Given the description of an element on the screen output the (x, y) to click on. 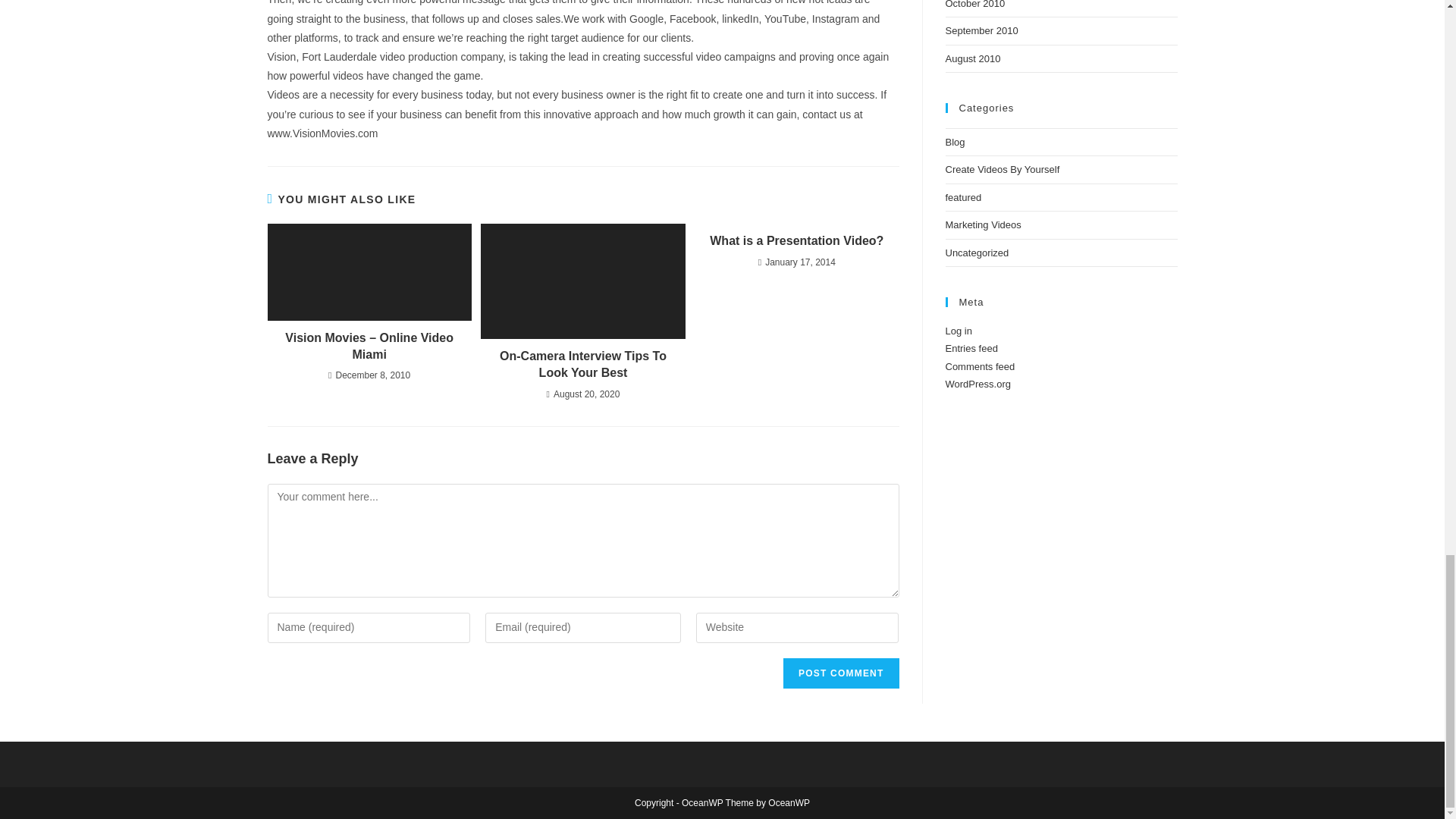
On-Camera Interview Tips To Look Your Best (582, 365)
What is a Presentation Video? (796, 240)
Post Comment (840, 673)
